Given the description of an element on the screen output the (x, y) to click on. 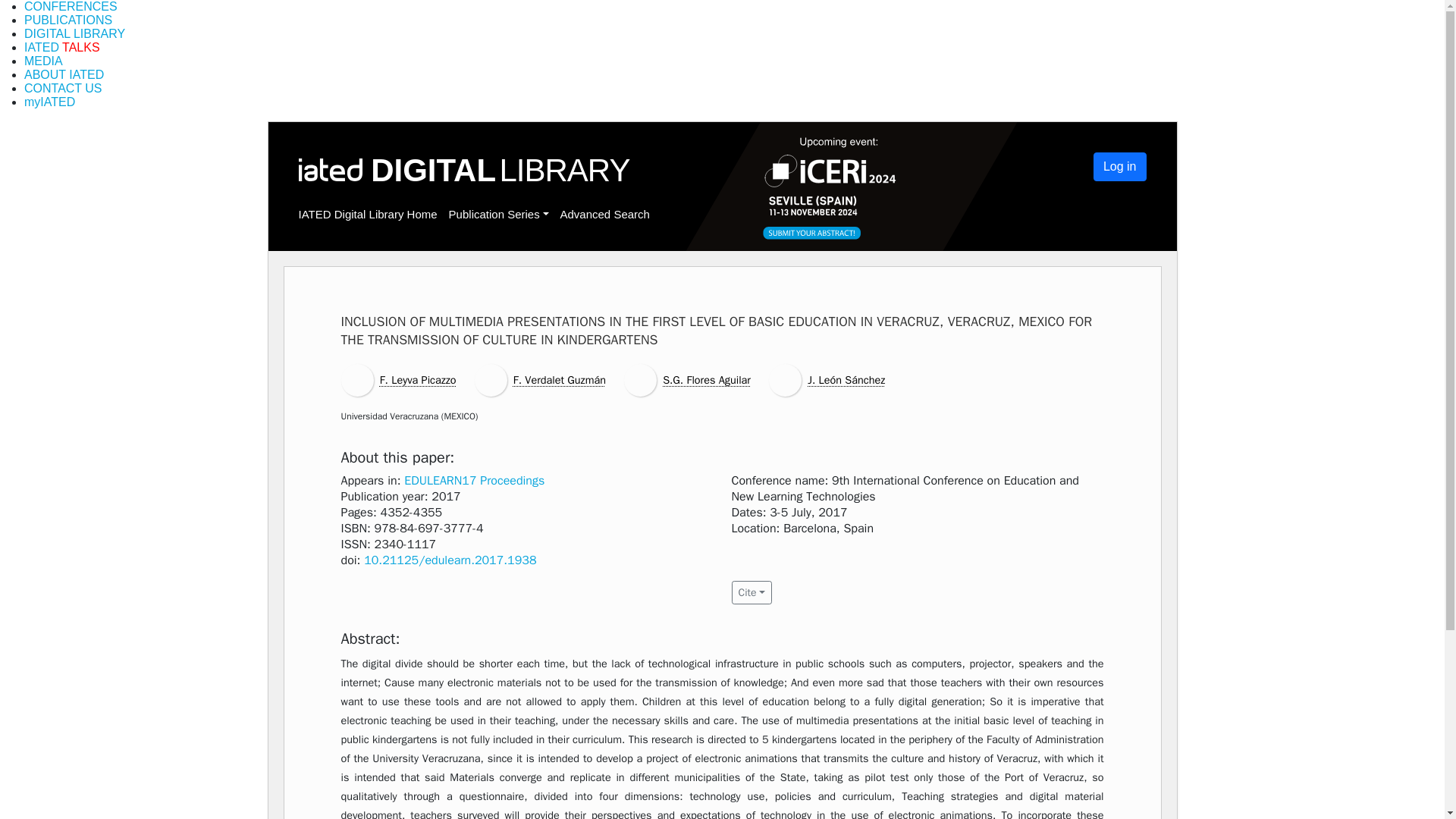
S.G. Flores Aguilar (706, 379)
PUBLICATIONS (68, 19)
DIGITAL LIBRARY (74, 33)
IATED TALKS (62, 47)
EDULEARN17 Proceedings (474, 480)
Advanced Search (604, 214)
CONTACT US (62, 88)
CONFERENCES (70, 6)
Log in (1120, 166)
Cite (750, 592)
